Given the description of an element on the screen output the (x, y) to click on. 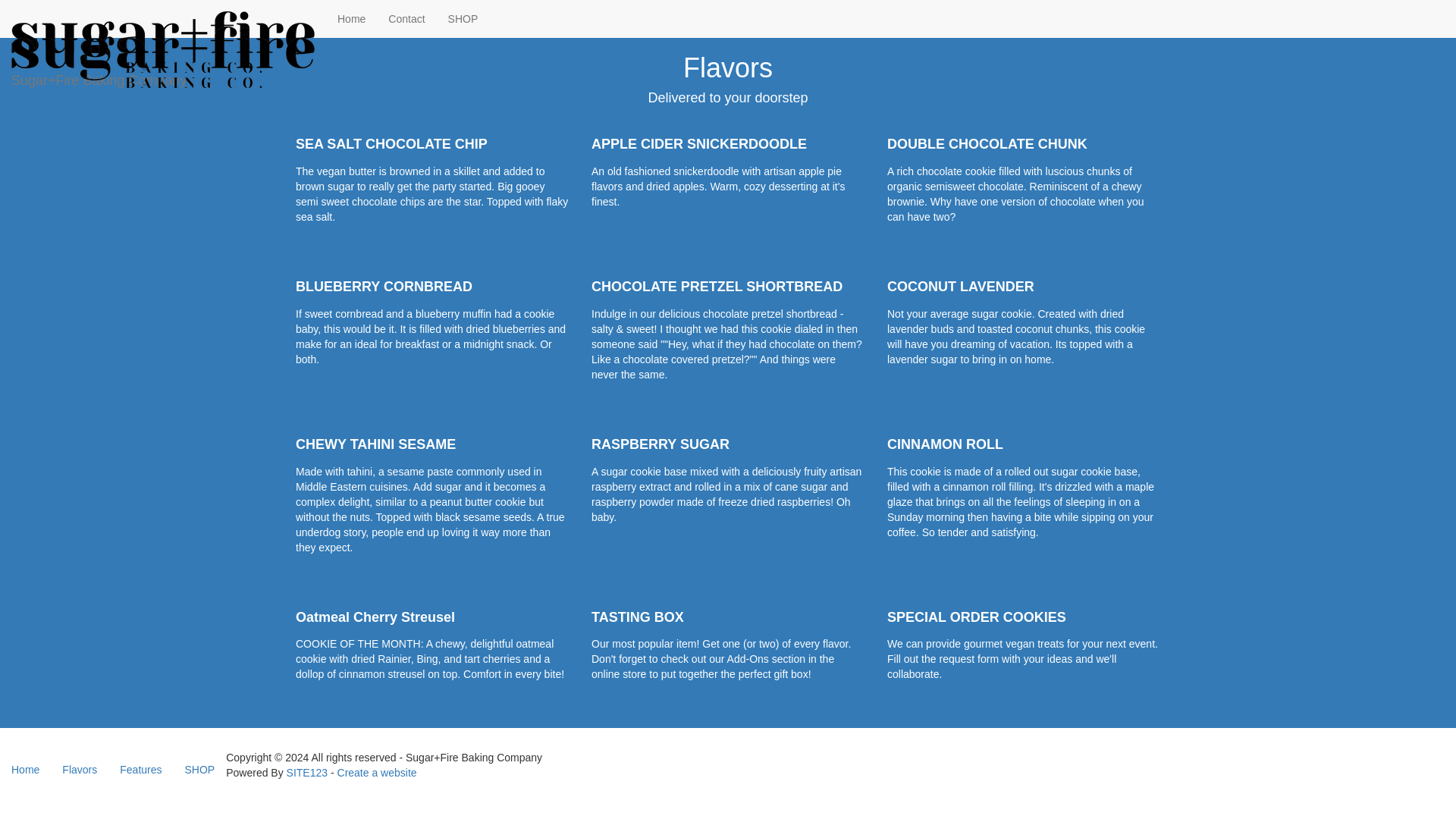
Create a website (376, 772)
SITE123 (306, 772)
Home (351, 18)
SHOP (462, 18)
Contact (406, 18)
